Given the description of an element on the screen output the (x, y) to click on. 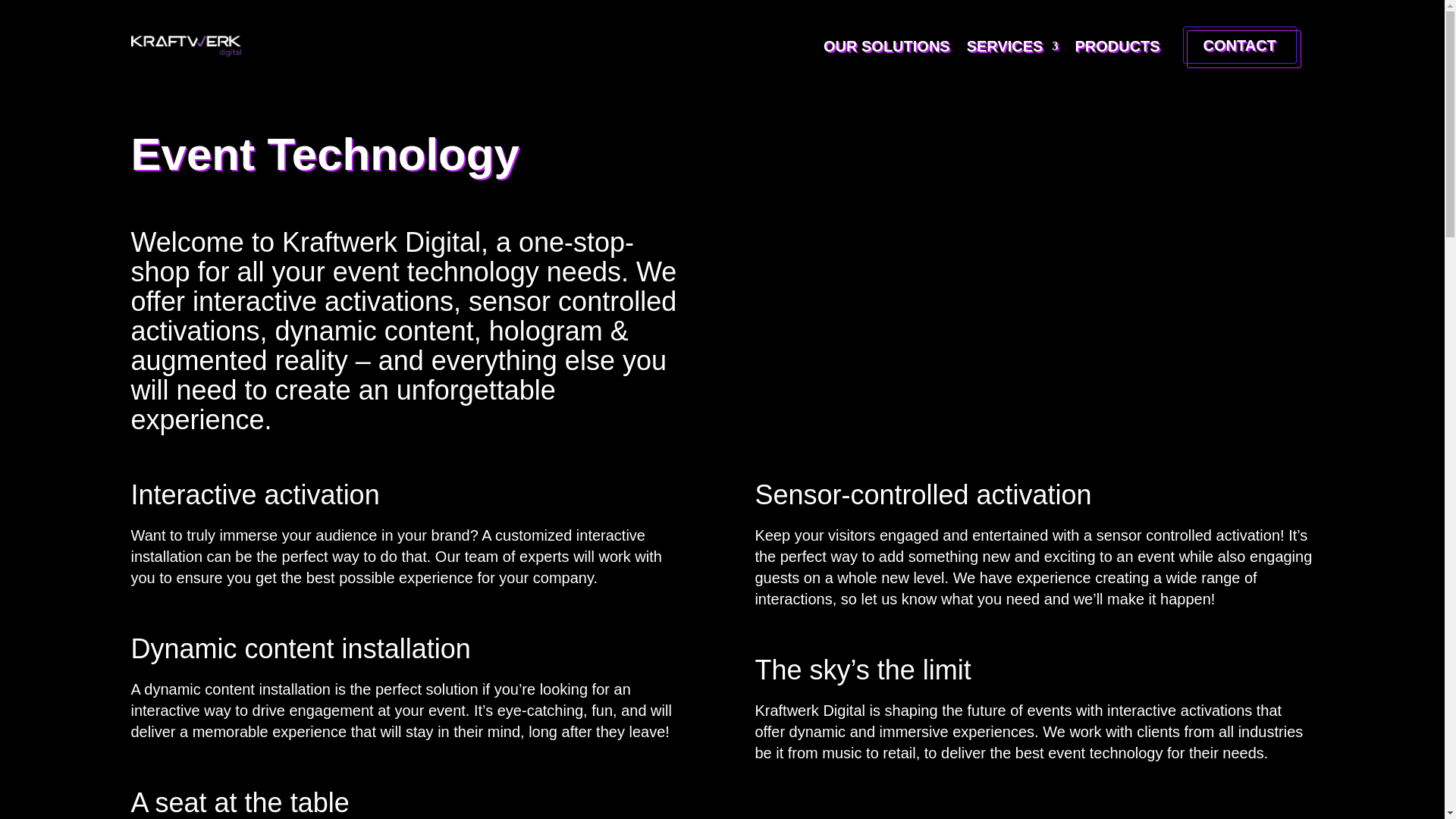
PRODUCTS (1116, 46)
SERVICES (1012, 46)
OUR SOLUTIONS (887, 46)
CONTACT (1241, 46)
